Given the description of an element on the screen output the (x, y) to click on. 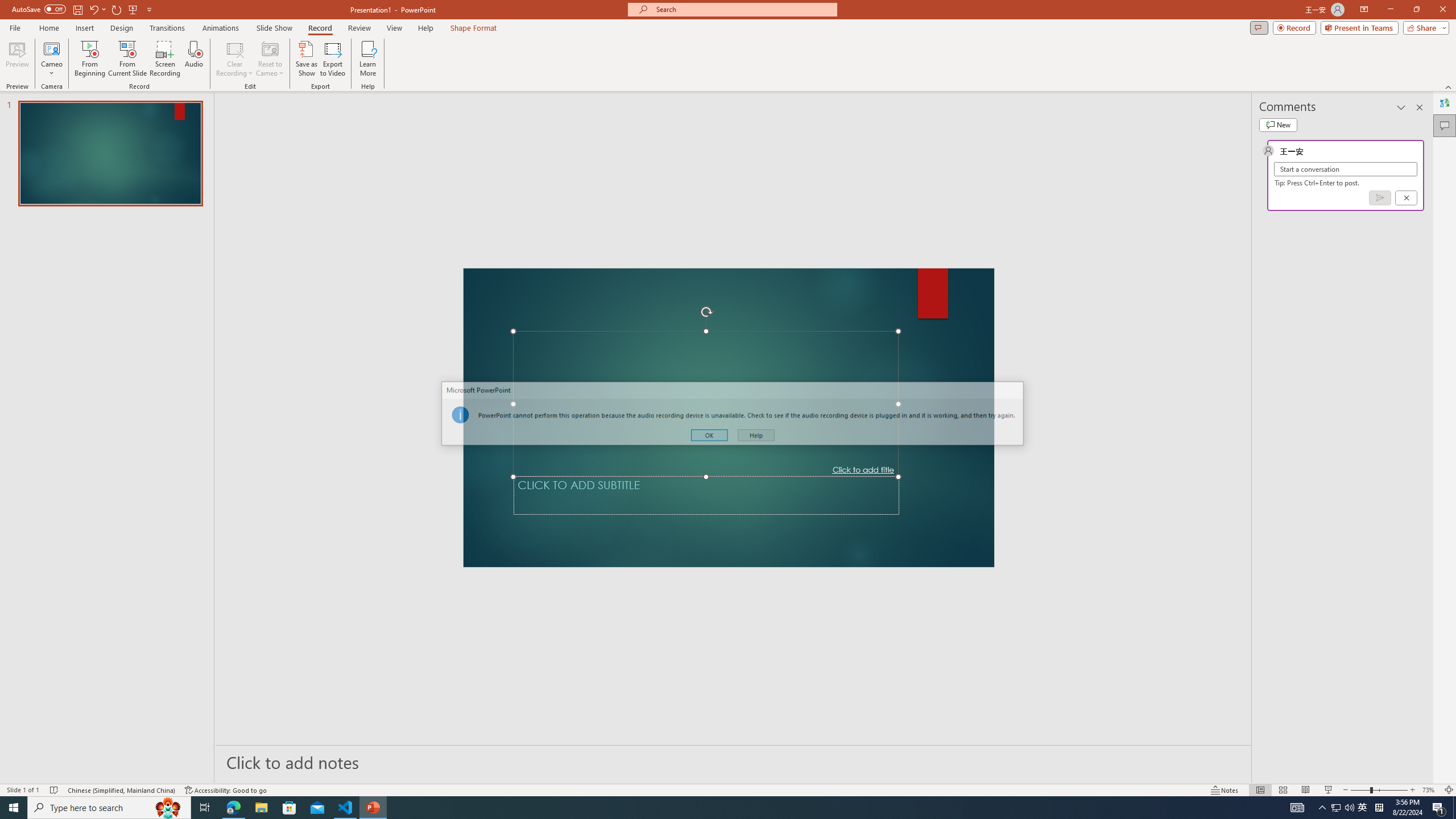
Start a conversation (1344, 168)
